Given the description of an element on the screen output the (x, y) to click on. 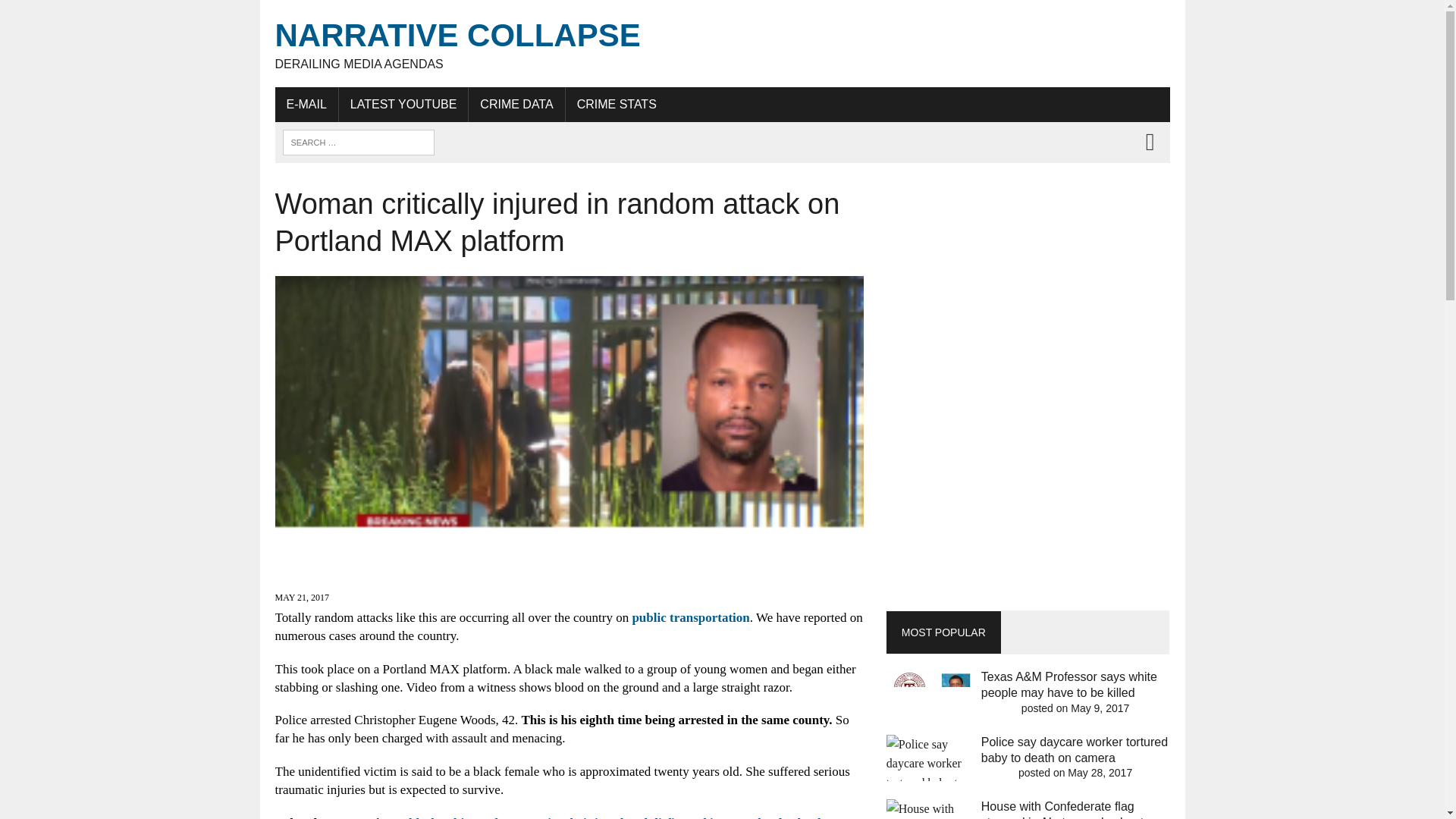
CRIME DATA (516, 104)
Search (75, 14)
Police say daycare worker tortured baby to death on camera (1074, 749)
Police say daycare worker tortured baby to death on camera (1074, 749)
public transportation (690, 617)
E-MAIL (306, 104)
CRIME STATS (617, 104)
Narrative Collapse (722, 43)
